Given the description of an element on the screen output the (x, y) to click on. 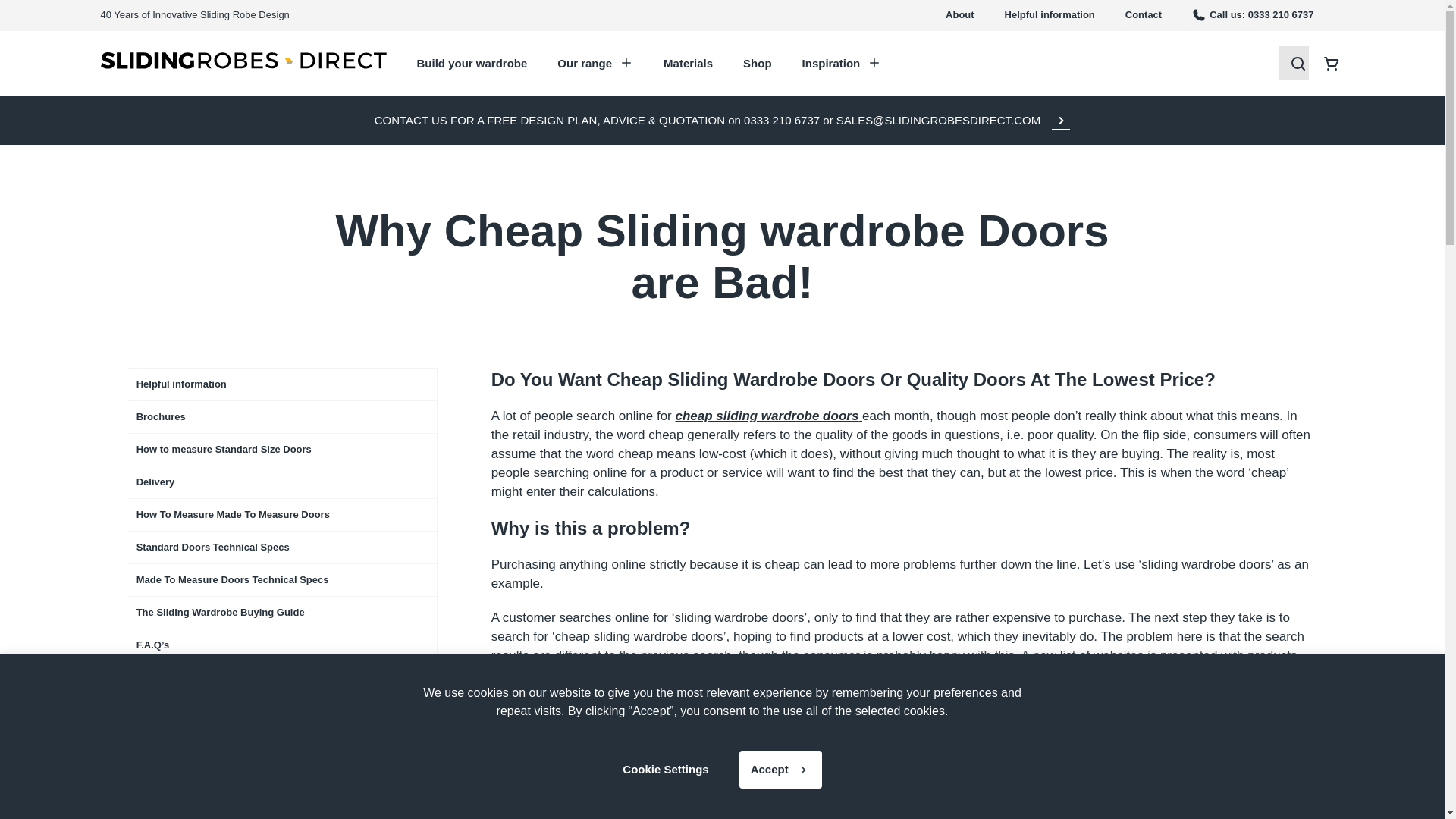
Installing Sliding Wardrobe Doors (282, 677)
Standard Doors Technical Specs (282, 547)
How to measure Standard Size Doors (282, 449)
Contact (1143, 15)
Why Cheap Sliding wardrobe Doors are Bad! (282, 807)
The Sliding Wardrobe Buying Guide (282, 612)
Materials (688, 63)
Shop (756, 63)
Brochures (282, 417)
Build your wardrobe (471, 63)
